Given the description of an element on the screen output the (x, y) to click on. 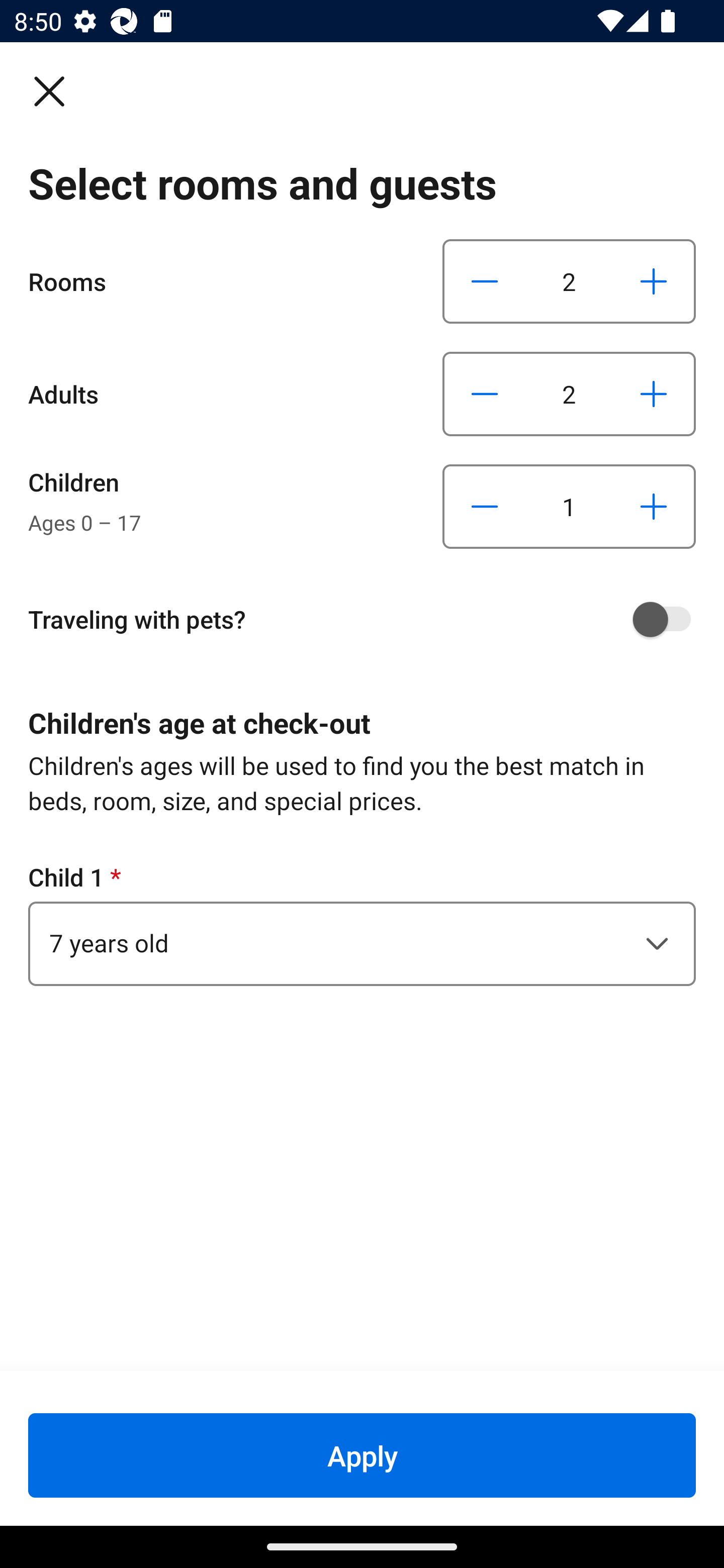
Decrease (484, 281)
Increase (653, 281)
Decrease (484, 393)
Increase (653, 393)
Decrease (484, 506)
Increase (653, 506)
Traveling with pets? (369, 619)
Child 1
required Child 1 * 7 years old (361, 922)
Apply (361, 1454)
